Given the description of an element on the screen output the (x, y) to click on. 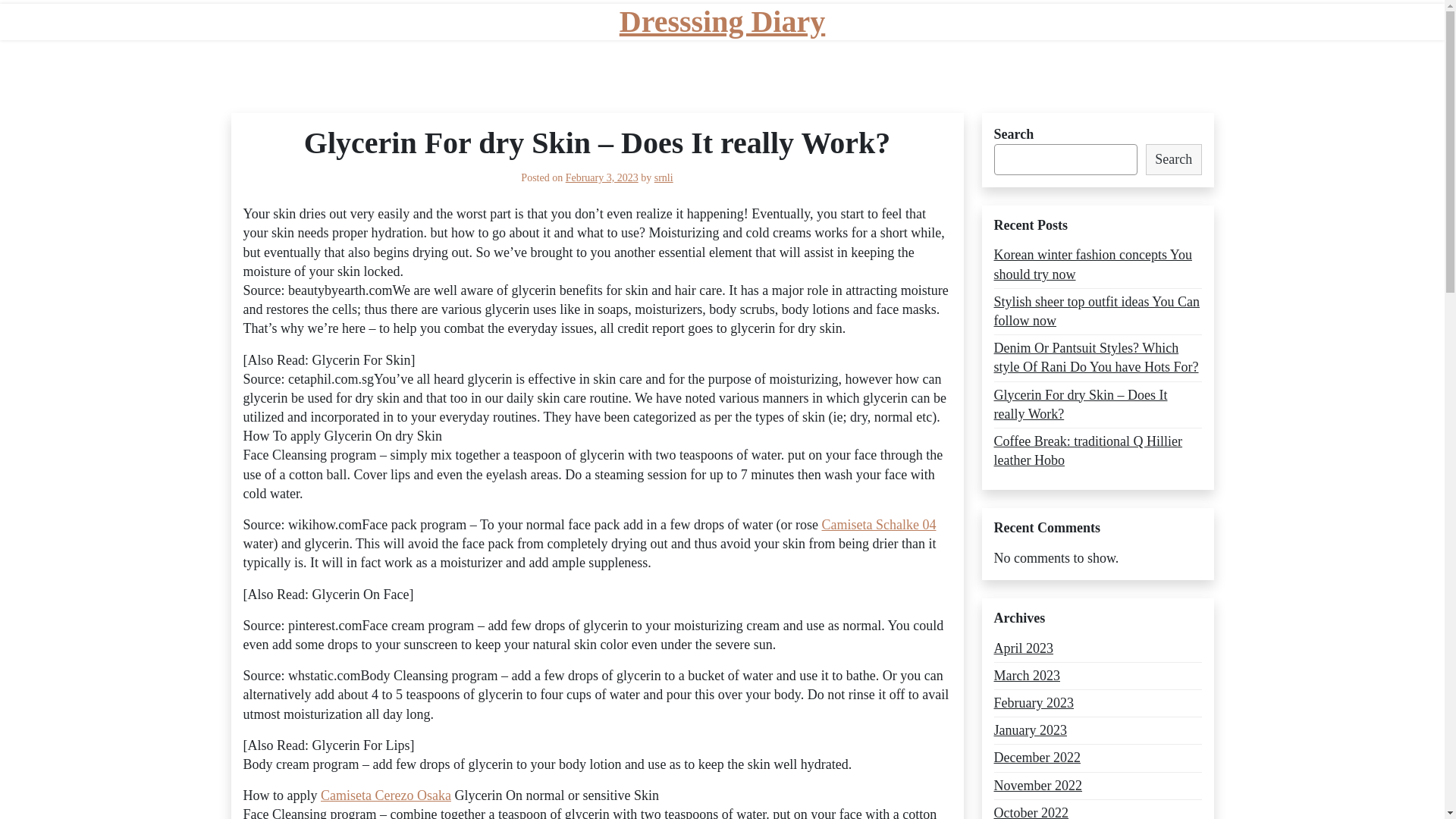
November 2022 (1036, 785)
Search (1173, 159)
Dresssing Diary (722, 22)
December 2022 (1036, 757)
srnli (662, 177)
Coffee Break: traditional Q Hillier leather Hobo (1096, 451)
February 2023 (1032, 702)
October 2022 (1029, 811)
April 2023 (1022, 648)
Stylish sheer top outfit ideas You Can follow now (1096, 311)
February 3, 2023 (602, 177)
Korean winter fashion concepts You should try now (1096, 264)
Camiseta Cerezo Osaka (385, 795)
March 2023 (1025, 675)
